Given the description of an element on the screen output the (x, y) to click on. 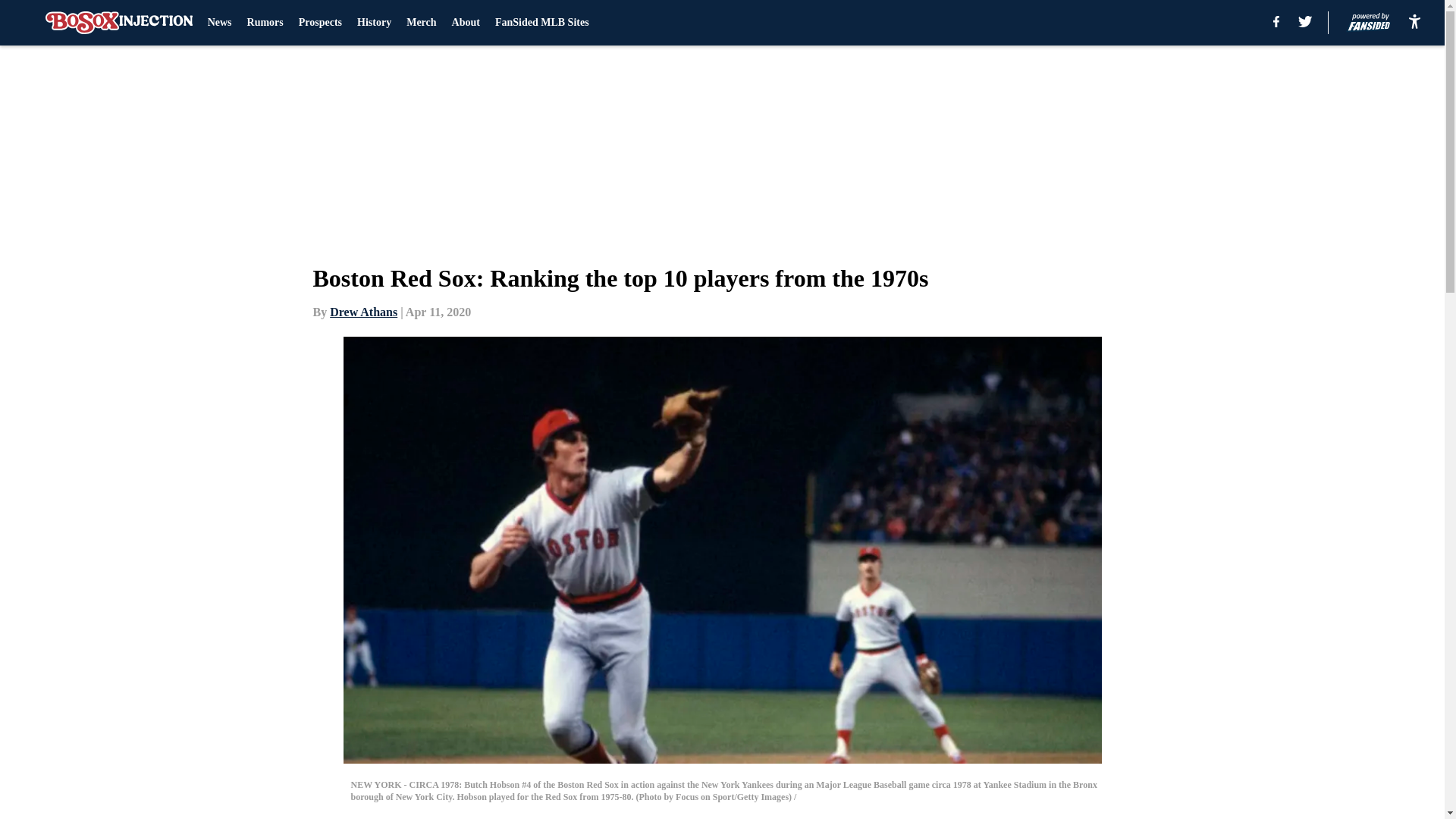
About (465, 22)
FanSided MLB Sites (542, 22)
Merch (420, 22)
Drew Athans (363, 311)
Prospects (320, 22)
History (373, 22)
Rumors (265, 22)
News (219, 22)
